Given the description of an element on the screen output the (x, y) to click on. 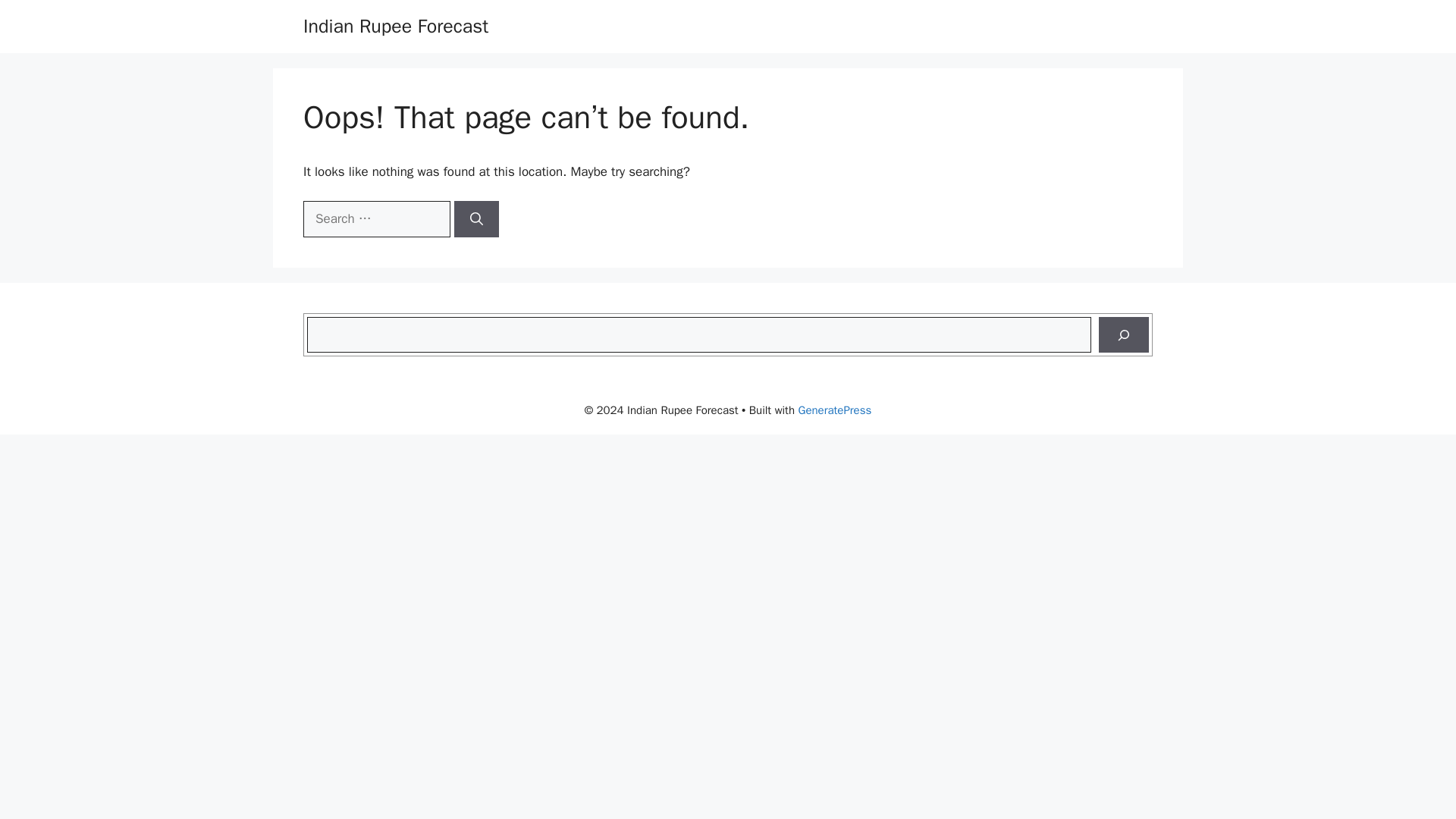
Indian Rupee Forecast (394, 25)
GeneratePress (833, 409)
Search for: (375, 218)
